Given the description of an element on the screen output the (x, y) to click on. 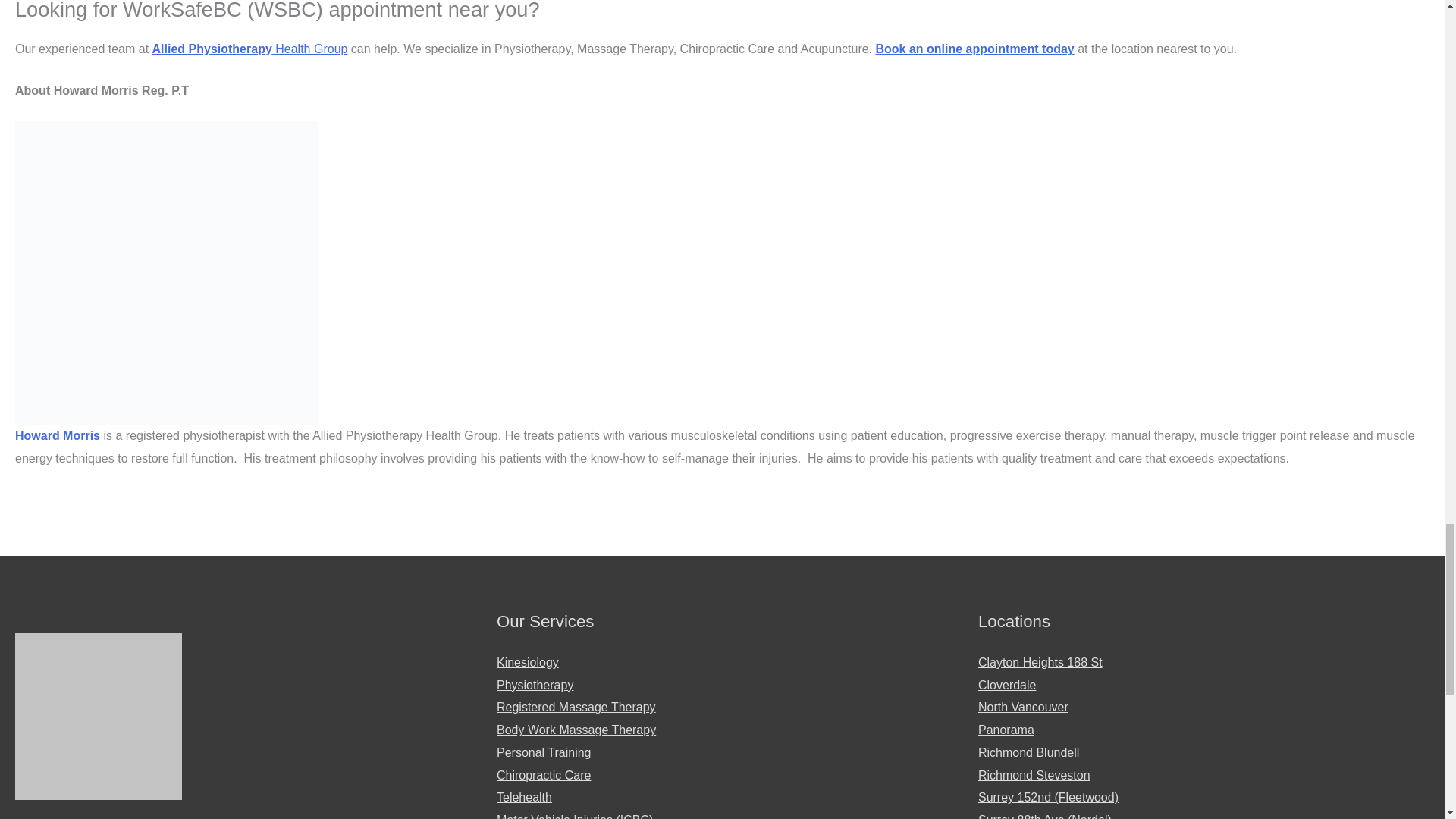
Body Work Massage Therapy (576, 729)
Chiropractic Care (543, 775)
Physiotherapy (534, 684)
Howard Morris (57, 435)
Kinesiology (527, 662)
Telehealth (523, 797)
Personal Training (543, 752)
Registered Massage Therapy (576, 707)
Allied Physiotherapy Health Group (249, 48)
Book an online appointment today (974, 48)
